Given the description of an element on the screen output the (x, y) to click on. 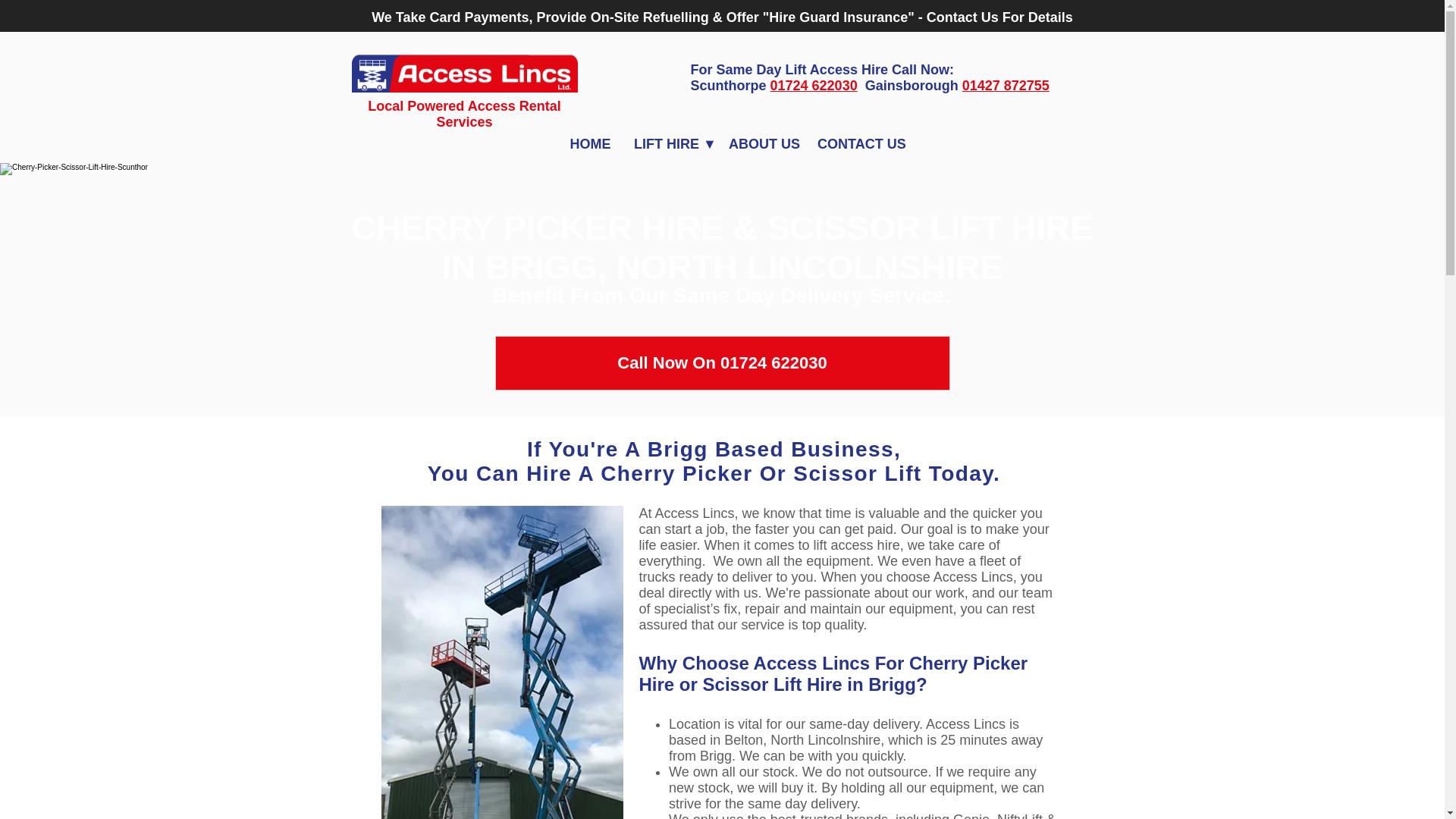
ABOUT US (761, 144)
CONTACT US (860, 144)
01724 622030 (813, 85)
HOME (590, 144)
Call Now On 01724 622030 (722, 362)
01427 872755 (1005, 85)
